Given the description of an element on the screen output the (x, y) to click on. 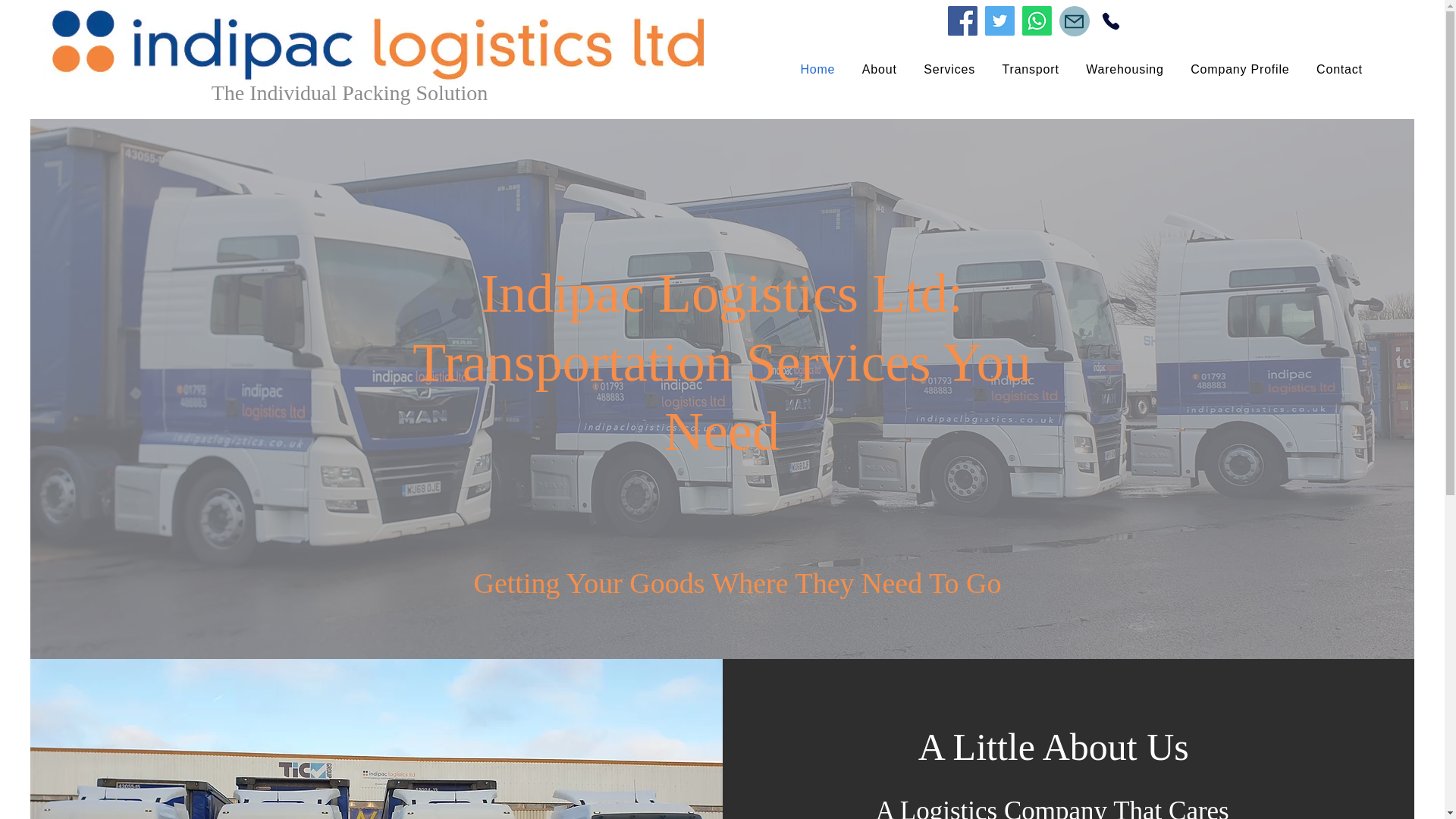
Services (948, 69)
Contact (1339, 69)
Home (817, 69)
Warehousing (1124, 69)
Transport (1030, 69)
Company Profile (1239, 69)
Transport (377, 44)
About (879, 69)
